Given the description of an element on the screen output the (x, y) to click on. 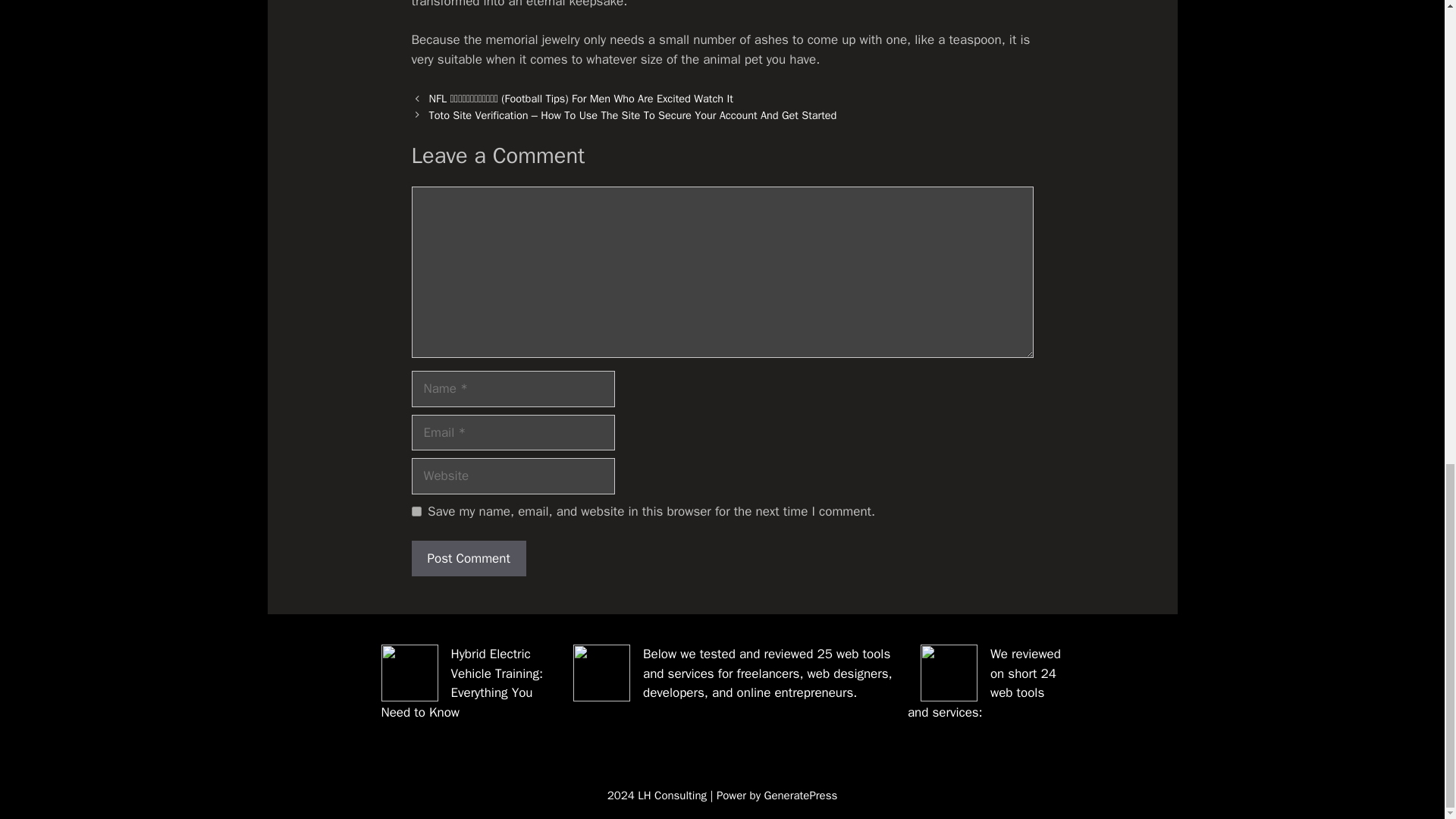
Previous (581, 98)
GeneratePress (801, 795)
Post Comment (467, 558)
We reviewed on short 24 web tools and services: (984, 683)
Post Comment (467, 558)
LH Consulting (671, 795)
yes (415, 511)
Next (633, 115)
